Given the description of an element on the screen output the (x, y) to click on. 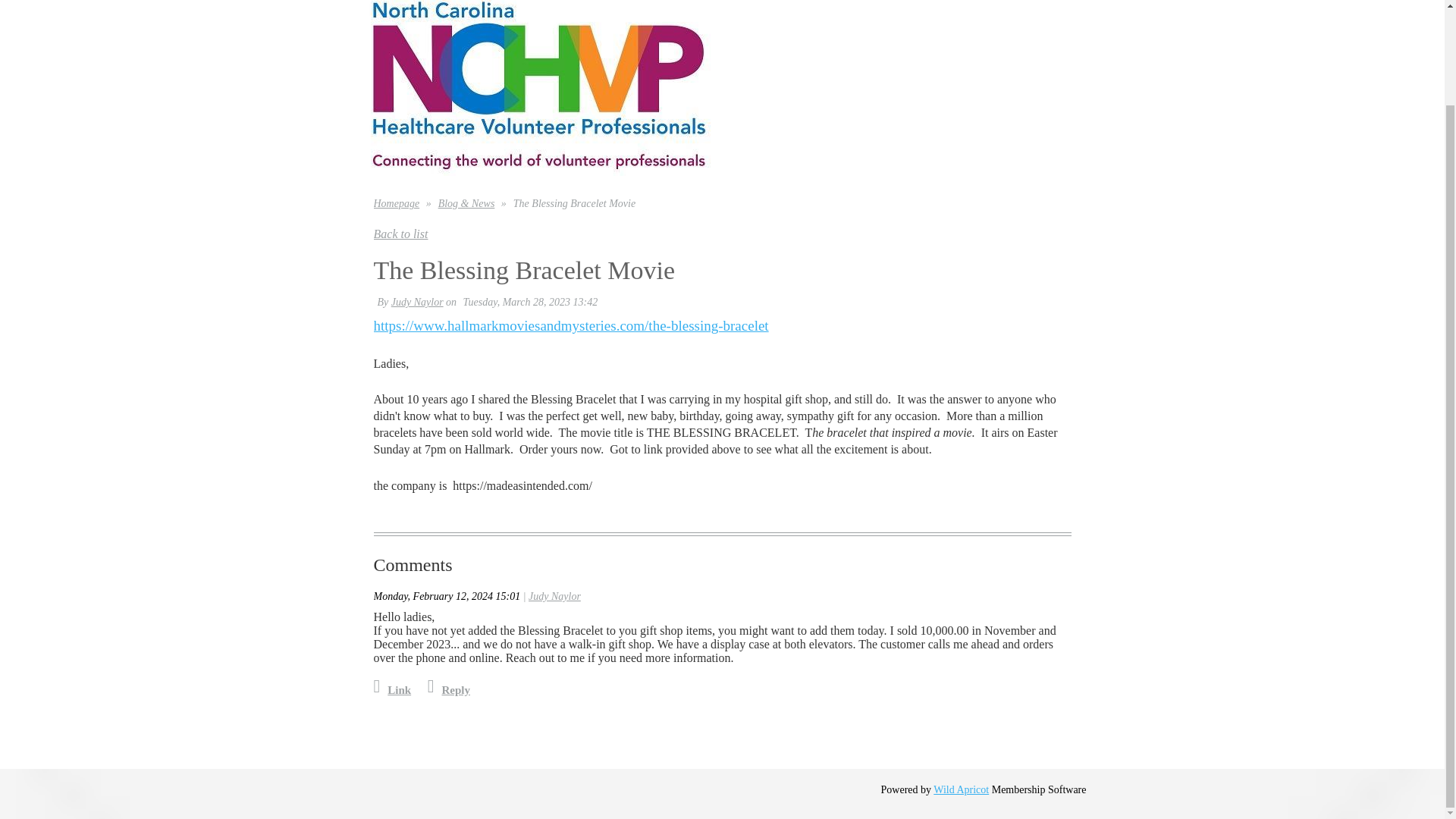
Back to list (400, 233)
Link (391, 689)
Homepage (395, 203)
Reply (449, 689)
Judy Naylor (417, 301)
Wild Apricot (960, 789)
Judy Naylor (554, 595)
